Given the description of an element on the screen output the (x, y) to click on. 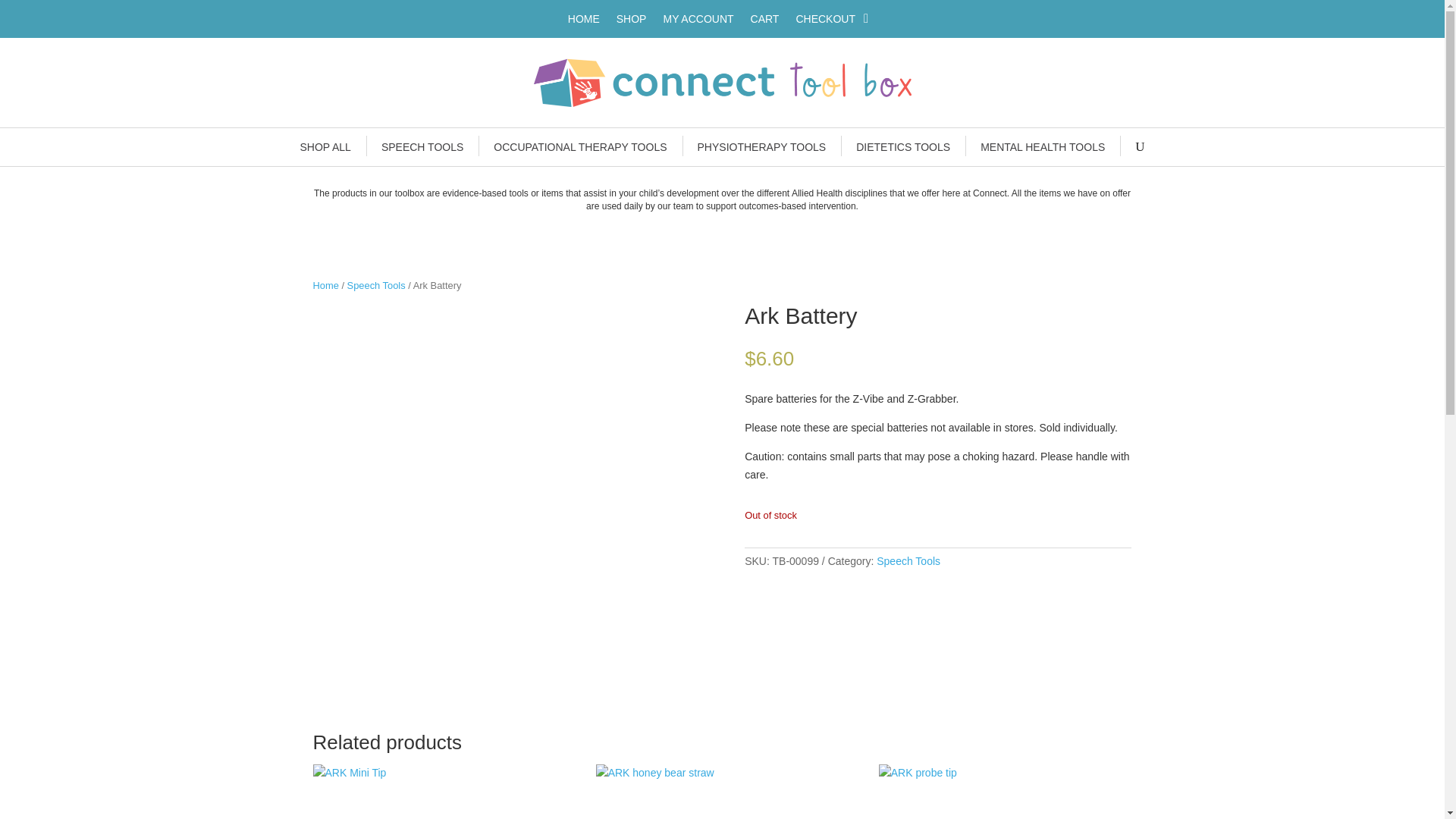
MENTAL HEALTH TOOLS (1042, 146)
SHOP ALL (324, 146)
SPEECH TOOLS (422, 146)
Speech Tools (908, 561)
Connect Toolbox Logo (721, 82)
HOME (583, 21)
Speech Tools (376, 285)
CHECKOUT (825, 21)
DIETETICS TOOLS (903, 146)
OCCUPATIONAL THERAPY TOOLS (580, 146)
